Given the description of an element on the screen output the (x, y) to click on. 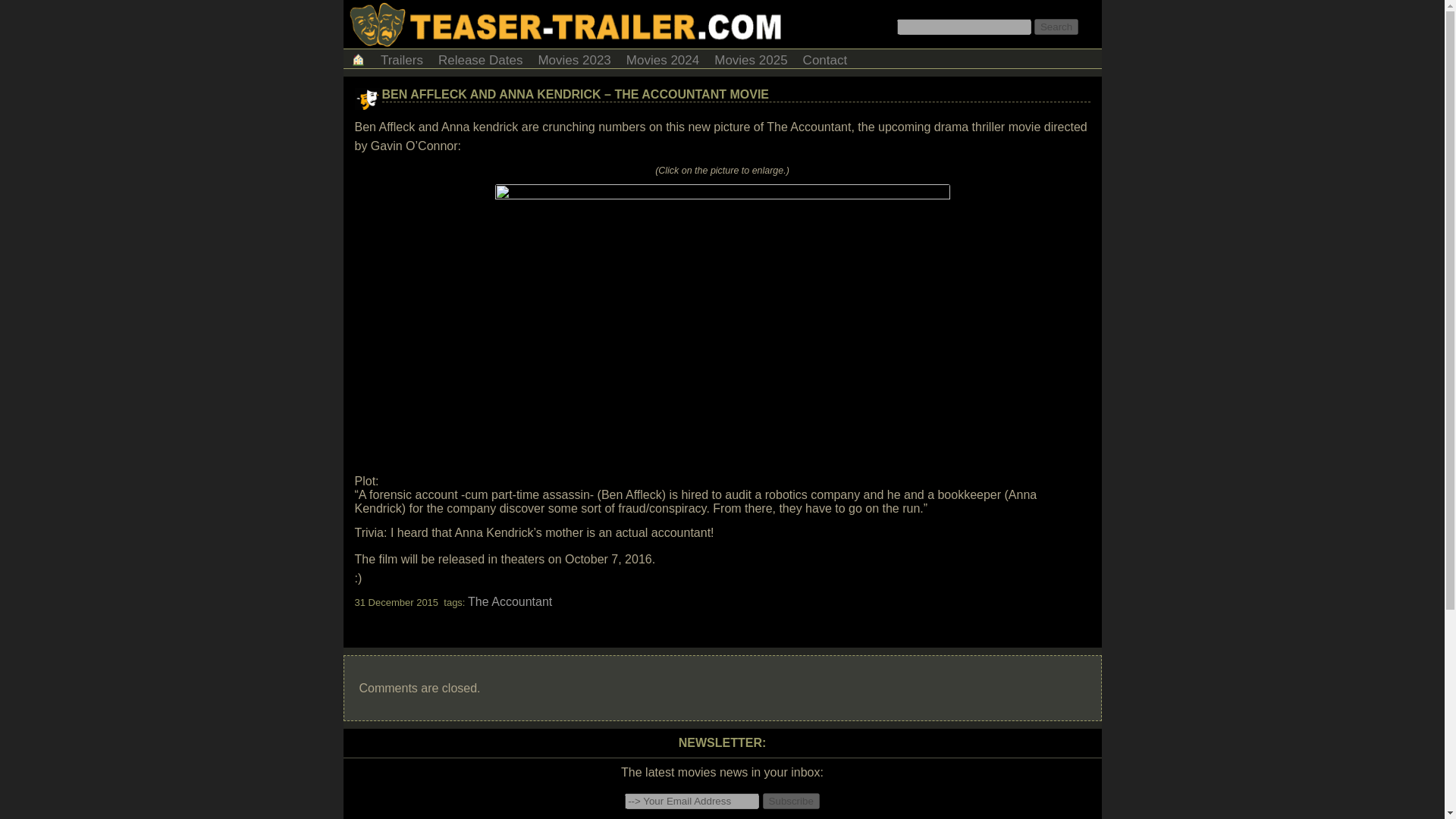
Movies 2023 (573, 58)
Movies 2024 (662, 58)
Trailers (401, 58)
Subscribe (790, 801)
Movies 2025 (750, 58)
Contact (825, 58)
Search (1055, 26)
The Accountant (509, 601)
Release Dates (480, 58)
Search (1055, 26)
